Given the description of an element on the screen output the (x, y) to click on. 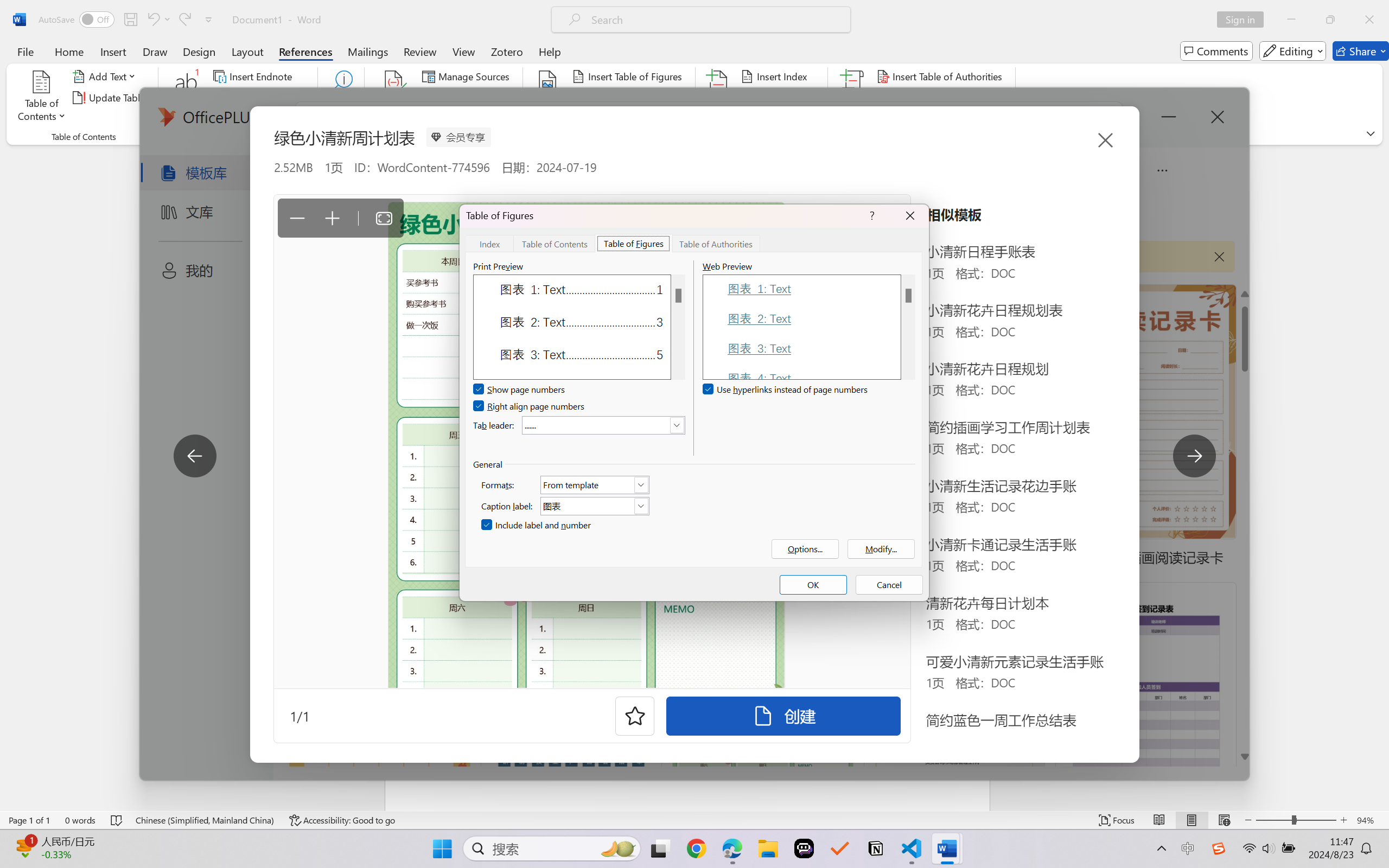
Editing (1292, 50)
Show Notes (248, 118)
Table of Authorities (716, 243)
Insert Endnote (253, 75)
Modify... (881, 548)
